Given the description of an element on the screen output the (x, y) to click on. 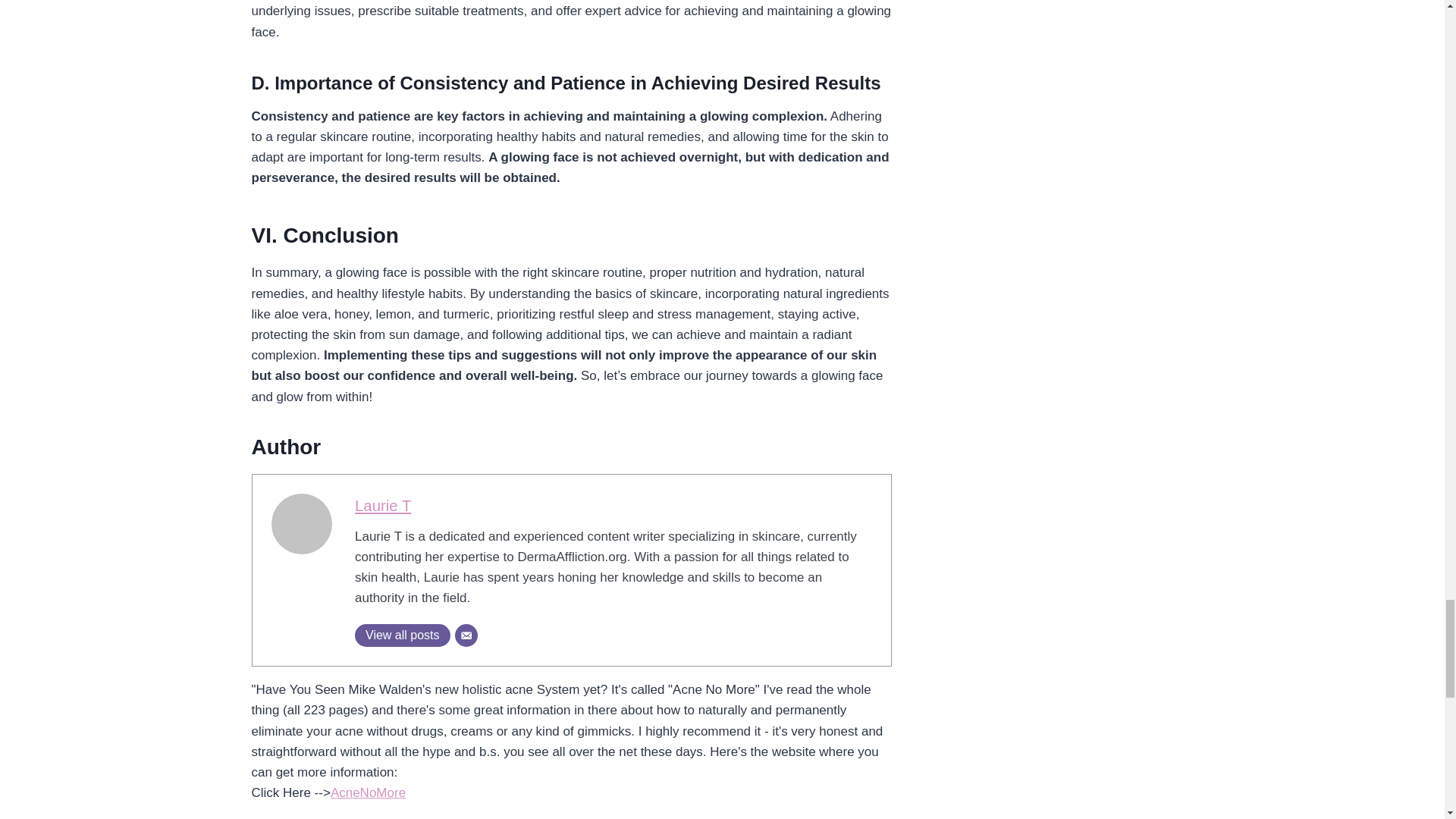
AcneNoMore (368, 792)
Laurie T (382, 505)
Laurie T (382, 505)
View all posts (402, 635)
View all posts (402, 635)
